Given the description of an element on the screen output the (x, y) to click on. 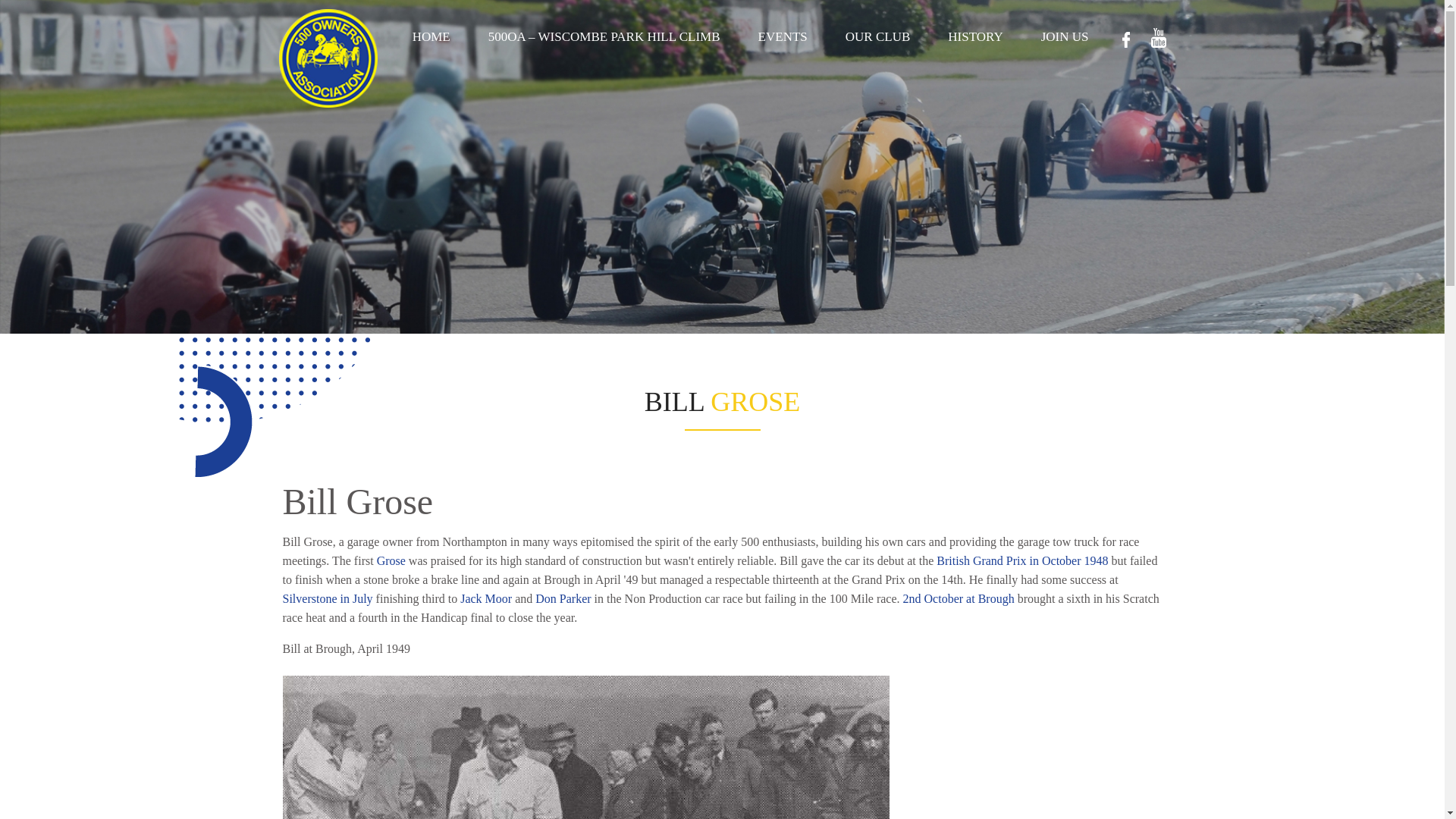
HISTORY (975, 36)
2nd October at Brough (958, 598)
Grose (391, 560)
British Grand Prix in October 1948 (1022, 560)
JOIN US (1065, 36)
HOME (430, 36)
Jack Moor (486, 598)
Don Parker (563, 598)
OUR CLUB (877, 36)
Silverstone in July (327, 598)
EVENTS (783, 36)
